Given the description of an element on the screen output the (x, y) to click on. 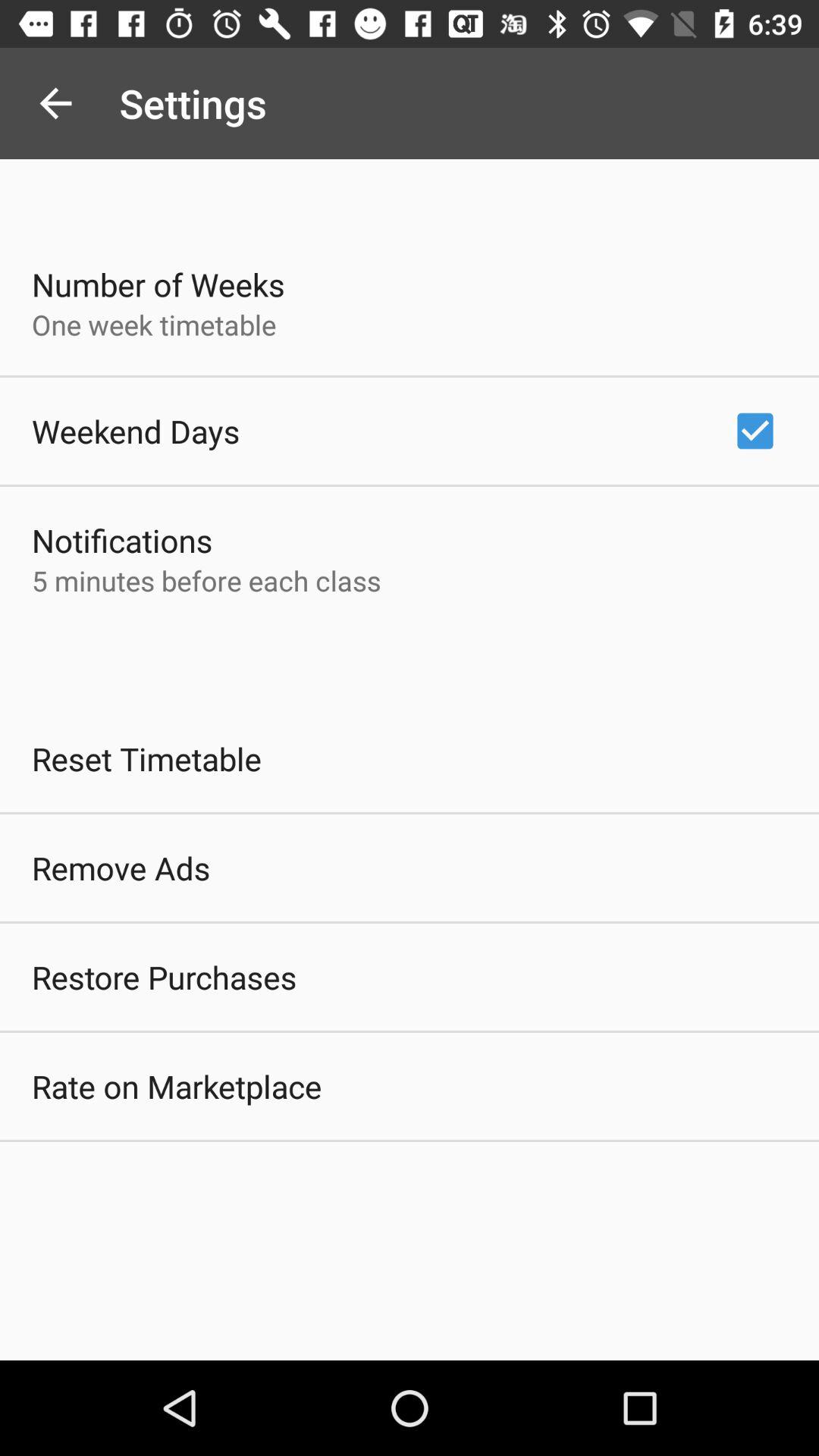
select the app next to weekend days (755, 430)
